Given the description of an element on the screen output the (x, y) to click on. 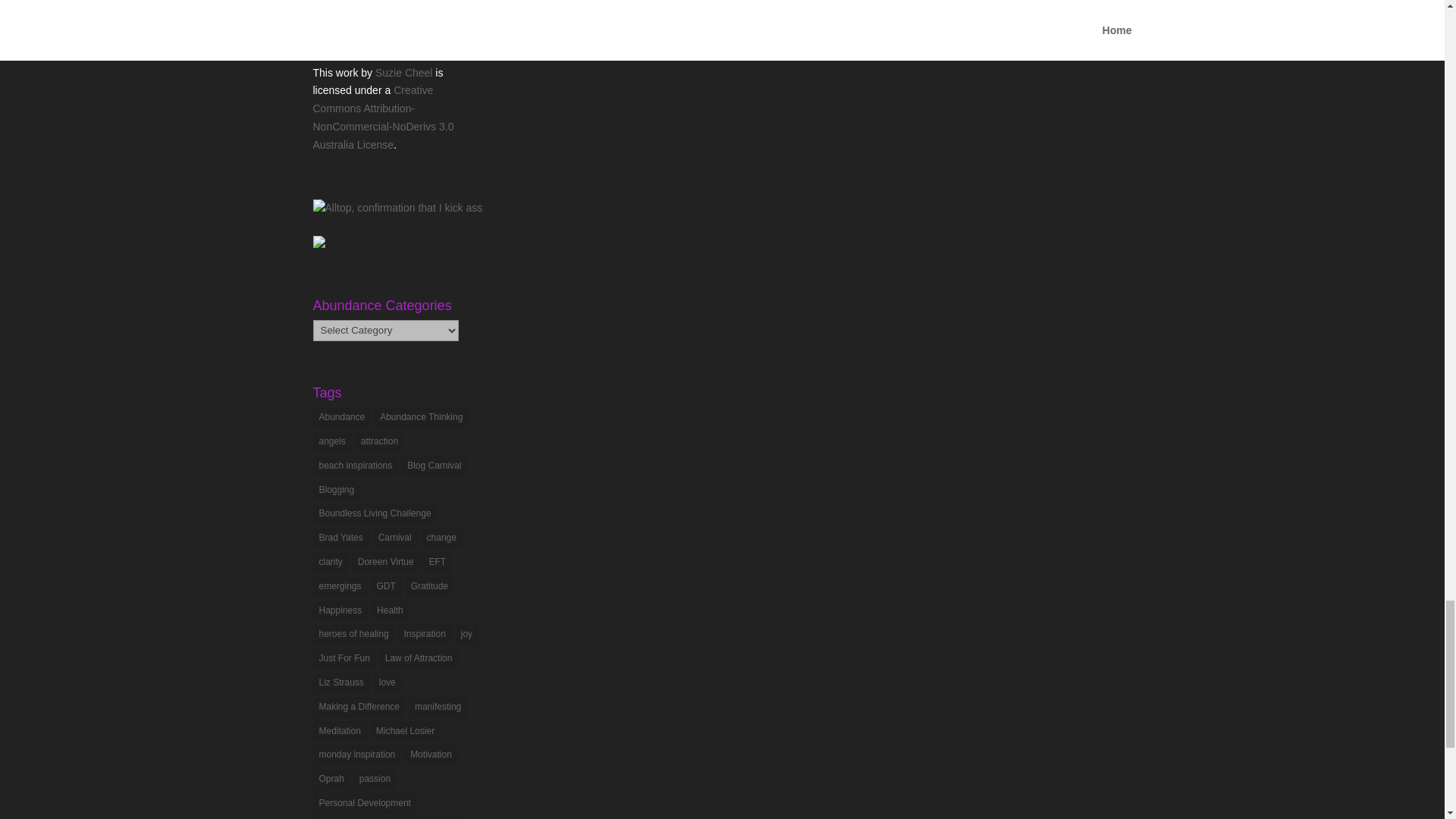
Blog Carnival (434, 465)
attraction (379, 441)
Abundance Thinking (421, 417)
Abundance (342, 417)
Blogging (336, 490)
angels (331, 441)
beach inspirations (355, 465)
Suzie Cheel (403, 72)
